Given the description of an element on the screen output the (x, y) to click on. 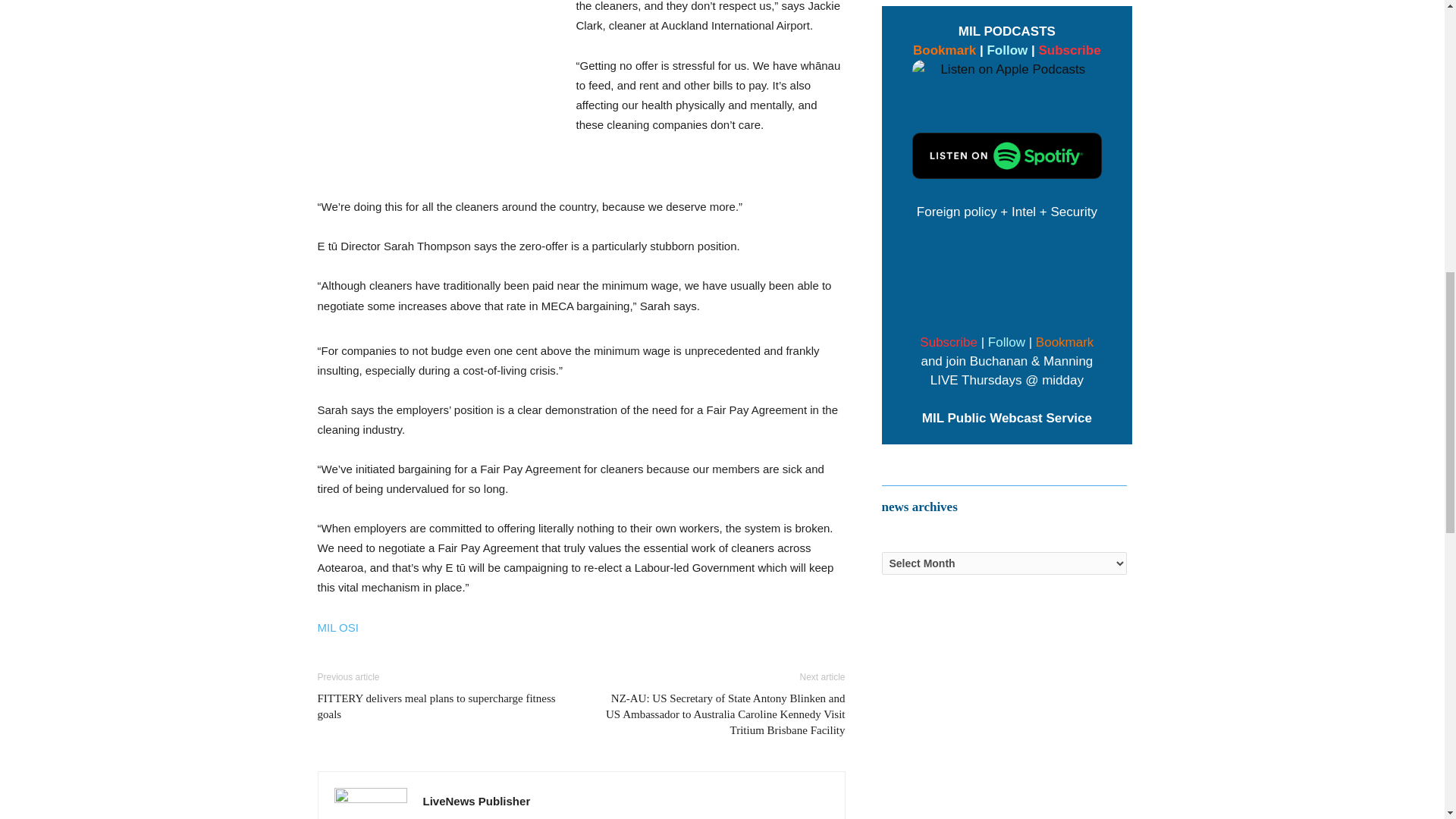
YouTube video player (1007, 274)
3rd party ad content (438, 92)
